Given the description of an element on the screen output the (x, y) to click on. 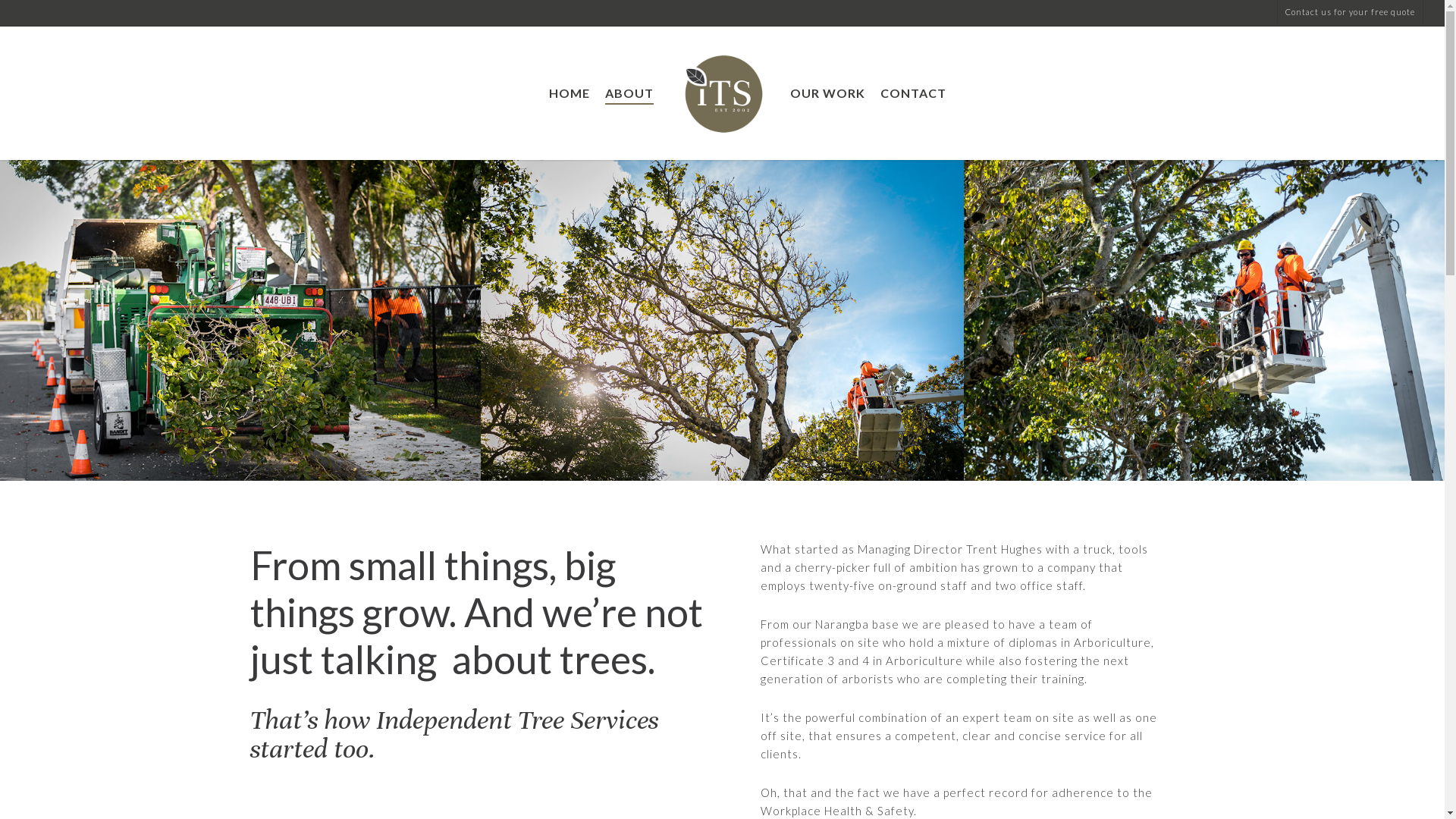
OUR WORK Element type: text (827, 93)
CONTACT Element type: text (913, 93)
Contact us for your free quote Element type: text (1349, 11)
ABOUT Element type: text (629, 93)
HOME Element type: text (569, 93)
